Given the description of an element on the screen output the (x, y) to click on. 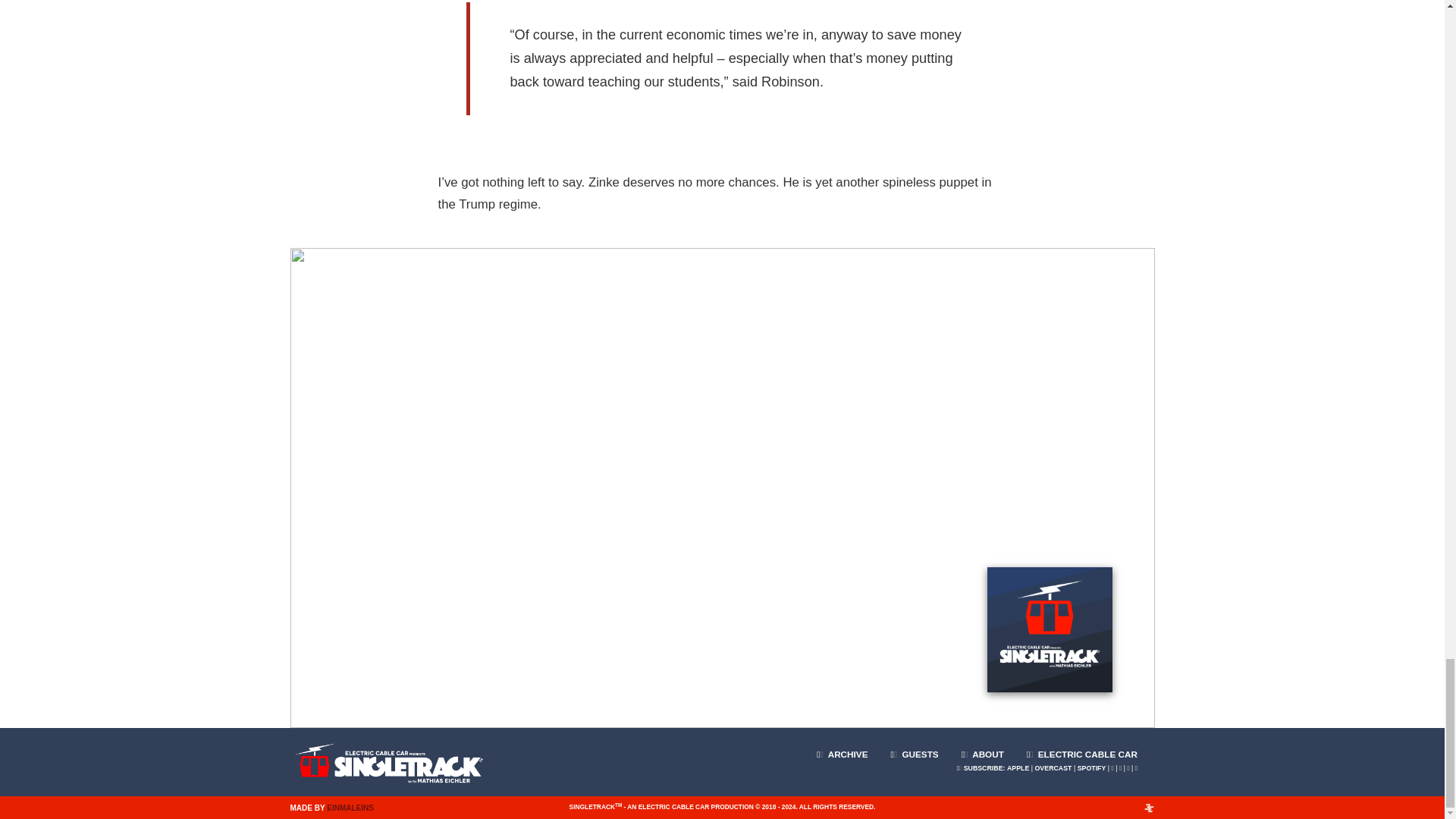
Guests (914, 748)
ARCHIVE (842, 748)
ELECTRIC CABLE CAR (1081, 748)
APPLE (1018, 768)
SPOTIFY (1091, 768)
Archive (842, 748)
ABOUT (982, 748)
GUESTS (914, 748)
ECC (1081, 748)
EINMALEINS (350, 807)
